Given the description of an element on the screen output the (x, y) to click on. 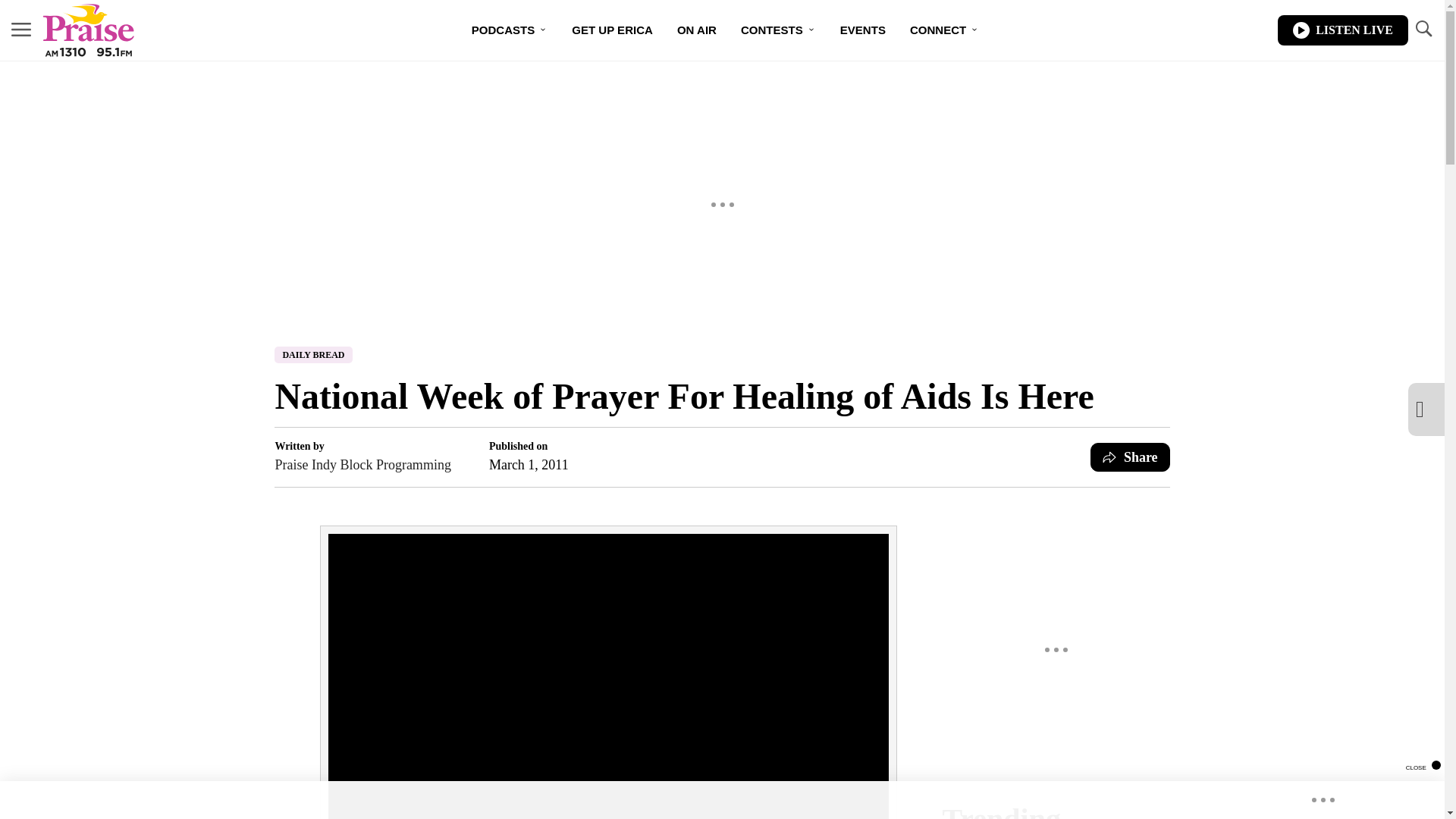
PODCASTS (510, 30)
DAILY BREAD (313, 354)
LISTEN LIVE (1342, 30)
TOGGLE SEARCH (1422, 30)
ON AIR (697, 30)
Praise Indy Block Programming (362, 464)
CONTESTS (778, 30)
MENU (20, 29)
Share (1130, 457)
TOGGLE SEARCH (1422, 28)
